Given the description of an element on the screen output the (x, y) to click on. 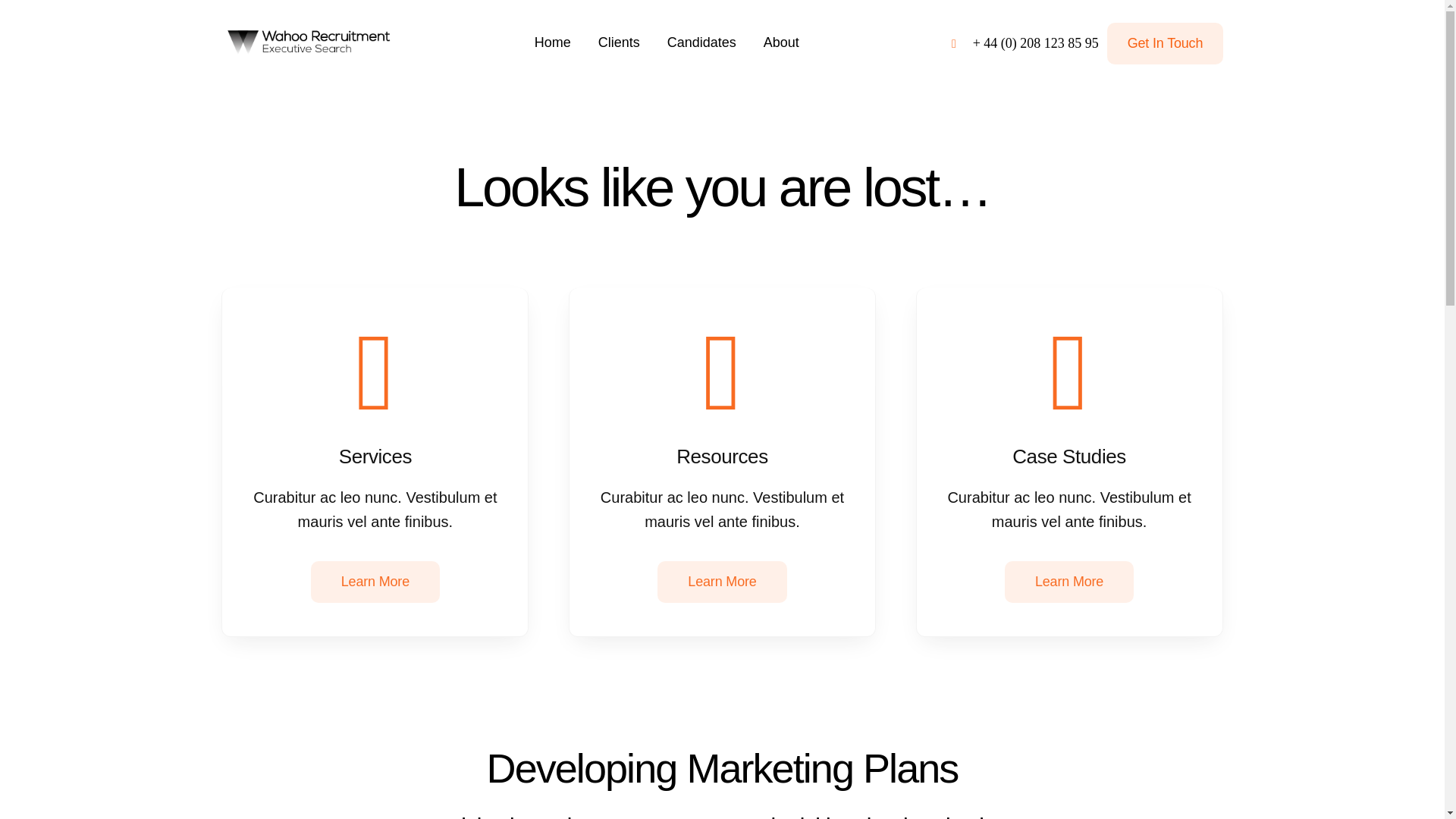
Get In Touch (1164, 43)
Home (552, 43)
About (780, 43)
Clients (619, 43)
Candidates (701, 43)
Learn More (375, 581)
Learn More (722, 581)
Learn More (1069, 581)
